Given the description of an element on the screen output the (x, y) to click on. 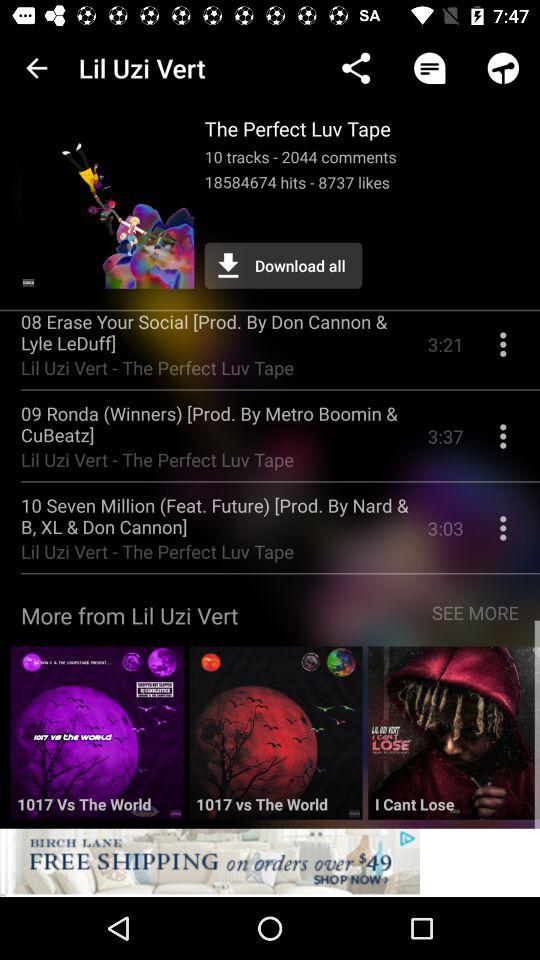
flip until the download all item (283, 265)
